Given the description of an element on the screen output the (x, y) to click on. 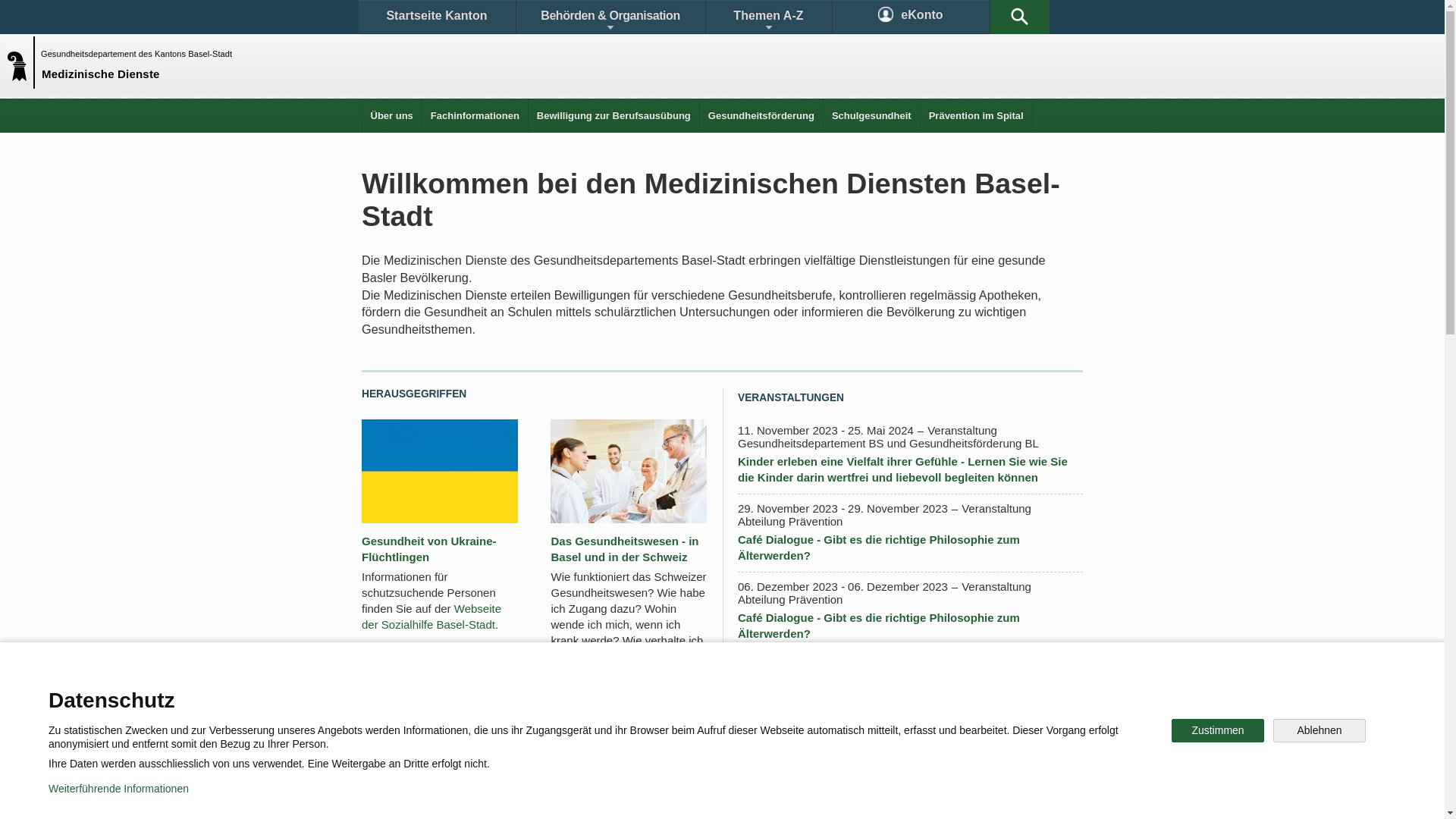
Zustimmen Element type: text (1217, 730)
Webseite der Sozialhilfe Basel-Stadt Element type: text (431, 616)
Impressum Element type: text (648, 796)
Publikationen Element type: text (795, 693)
Themen A-Z Element type: text (768, 17)
Instagram Element type: text (738, 746)
eKonto Element type: text (910, 17)
Fachinformationen Element type: text (474, 115)
YouTube Element type: text (839, 746)
Ablehnen Element type: text (1319, 730)
Zur mobilen Ansicht Element type: text (752, 796)
Nutzungsregelungen Element type: text (542, 796)
Kontakt Element type: text (406, 693)
Gesetze Element type: text (597, 693)
Alle anzeigen Element type: text (771, 742)
Xing Element type: text (1022, 746)
Bild & Multimedia Element type: text (908, 693)
LinkedIn Element type: text (936, 746)
RSS-Feed abonnieren Element type: text (801, 771)
Das Gesundheitswesen - in Basel und in der Schweiz Element type: text (624, 548)
Twitter Element type: text (642, 746)
Schulgesundheit Element type: text (871, 115)
Statistiken Element type: text (687, 693)
Startseite Kanton Element type: text (435, 17)
Stadtplan & Karte Element type: text (504, 693)
Facebook Element type: text (547, 746)
